Given the description of an element on the screen output the (x, y) to click on. 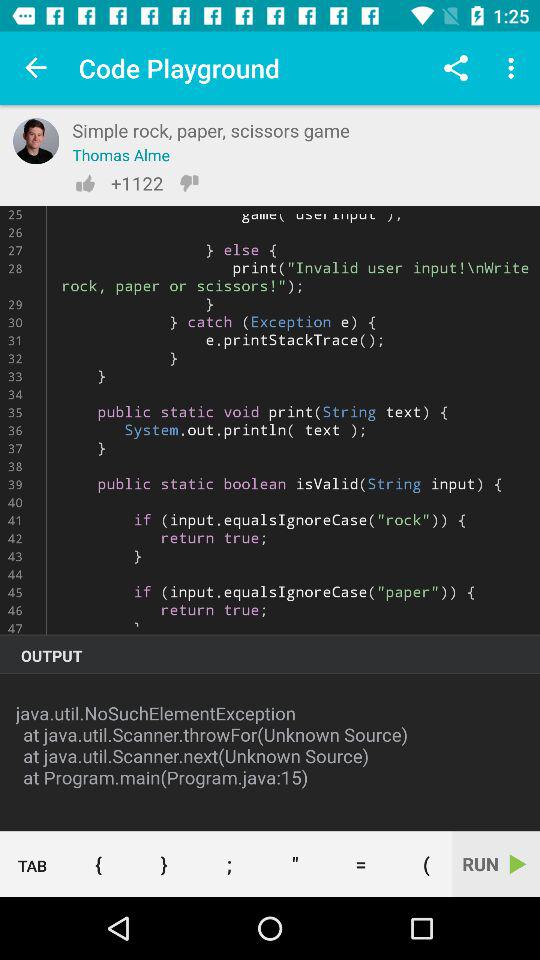
like this post (85, 183)
